Given the description of an element on the screen output the (x, y) to click on. 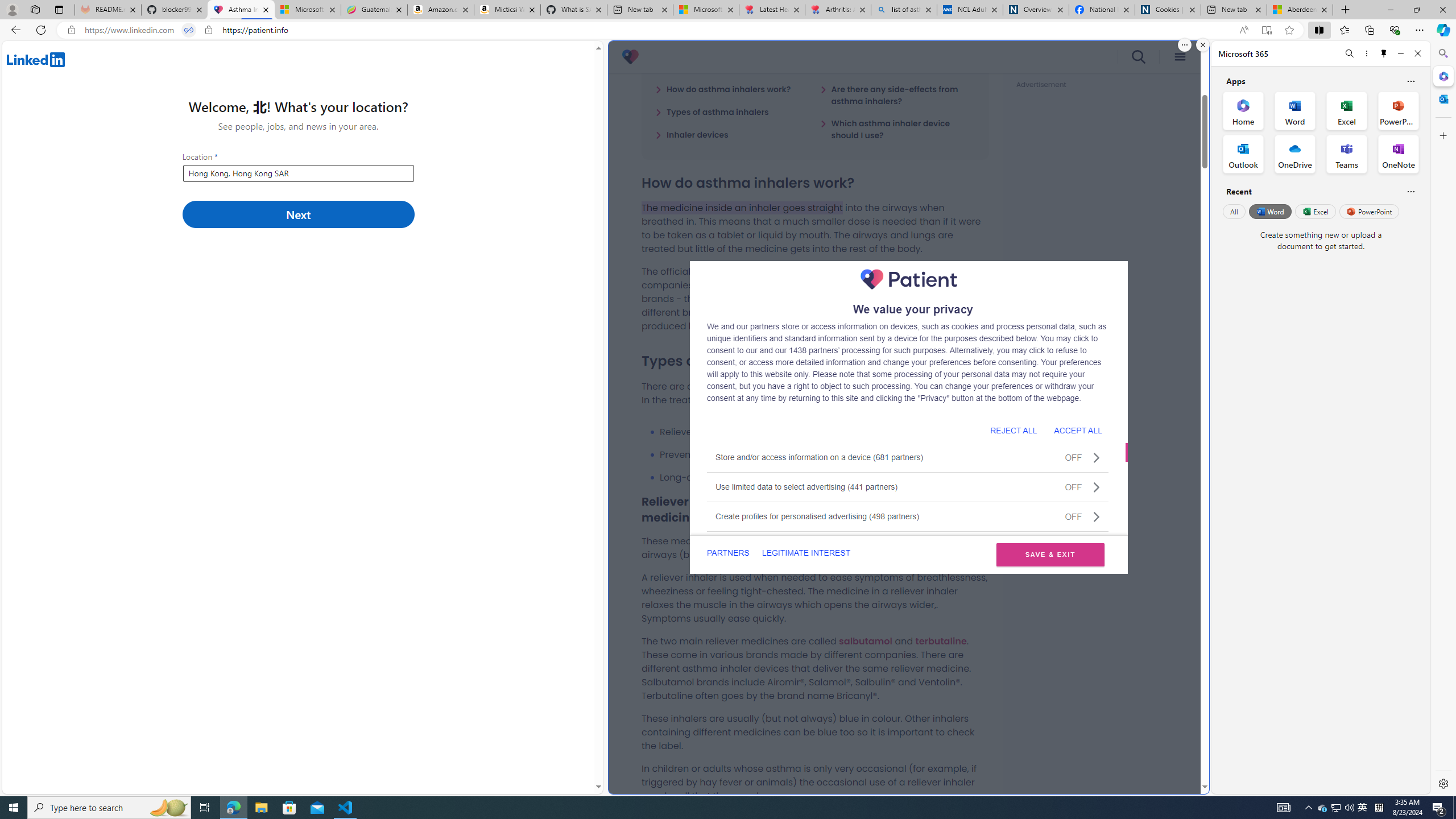
menu icon (1179, 56)
How do asthma inhalers work? (722, 88)
list of asthma inhalers uk - Search (904, 9)
Favorites (1344, 29)
Is this helpful? (1410, 191)
Types of asthma inhalers (711, 111)
salbutamol (865, 640)
Search (1442, 53)
Close Outlook pane (1442, 98)
